Given the description of an element on the screen output the (x, y) to click on. 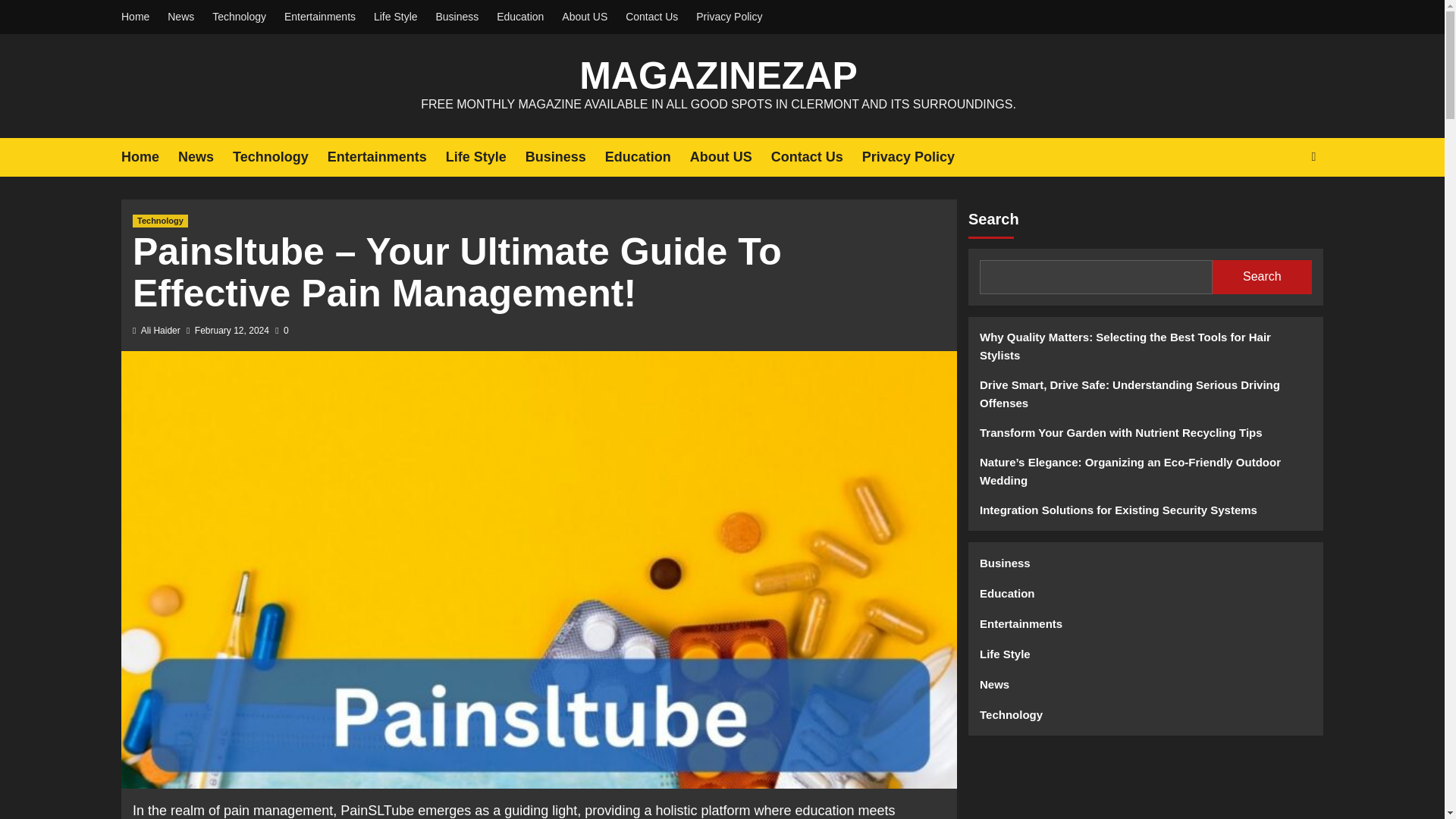
0 (281, 330)
Privacy Policy (917, 157)
Contact Us (816, 157)
News (204, 157)
February 12, 2024 (232, 330)
Entertainments (386, 157)
Technology (159, 220)
Ali Haider (160, 330)
MAGAZINEZAP (718, 75)
Education (647, 157)
Business (457, 17)
Education (520, 17)
Technology (239, 17)
Technology (279, 157)
About US (730, 157)
